Given the description of an element on the screen output the (x, y) to click on. 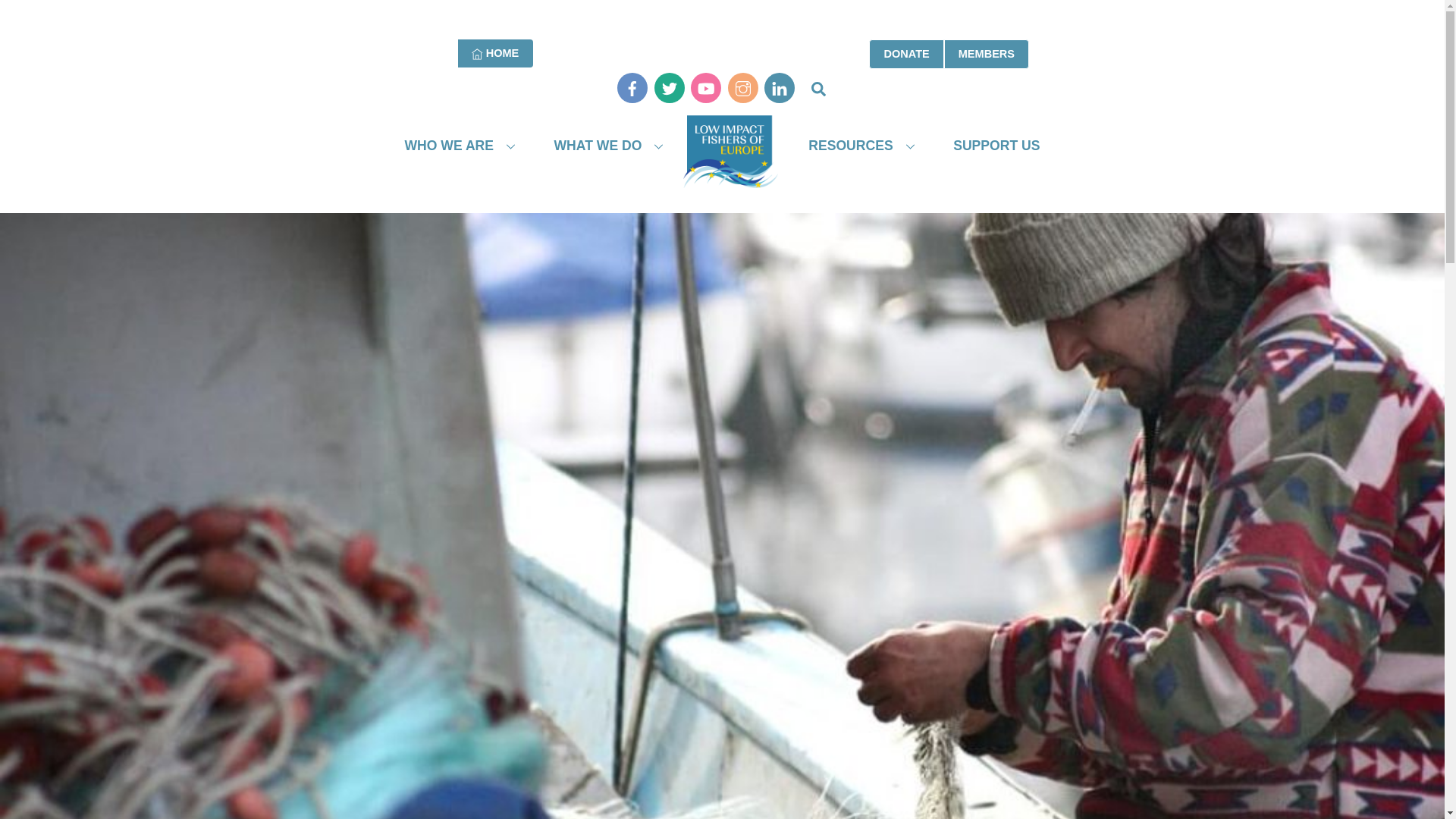
Search (817, 87)
HOME (721, 130)
DONATE (495, 53)
SUPPORT US (906, 53)
MEMBERS (996, 145)
DONATE MEMBERS (986, 53)
RESOURCES (949, 53)
HOME (856, 145)
WHAT WE DO (495, 53)
